Given the description of an element on the screen output the (x, y) to click on. 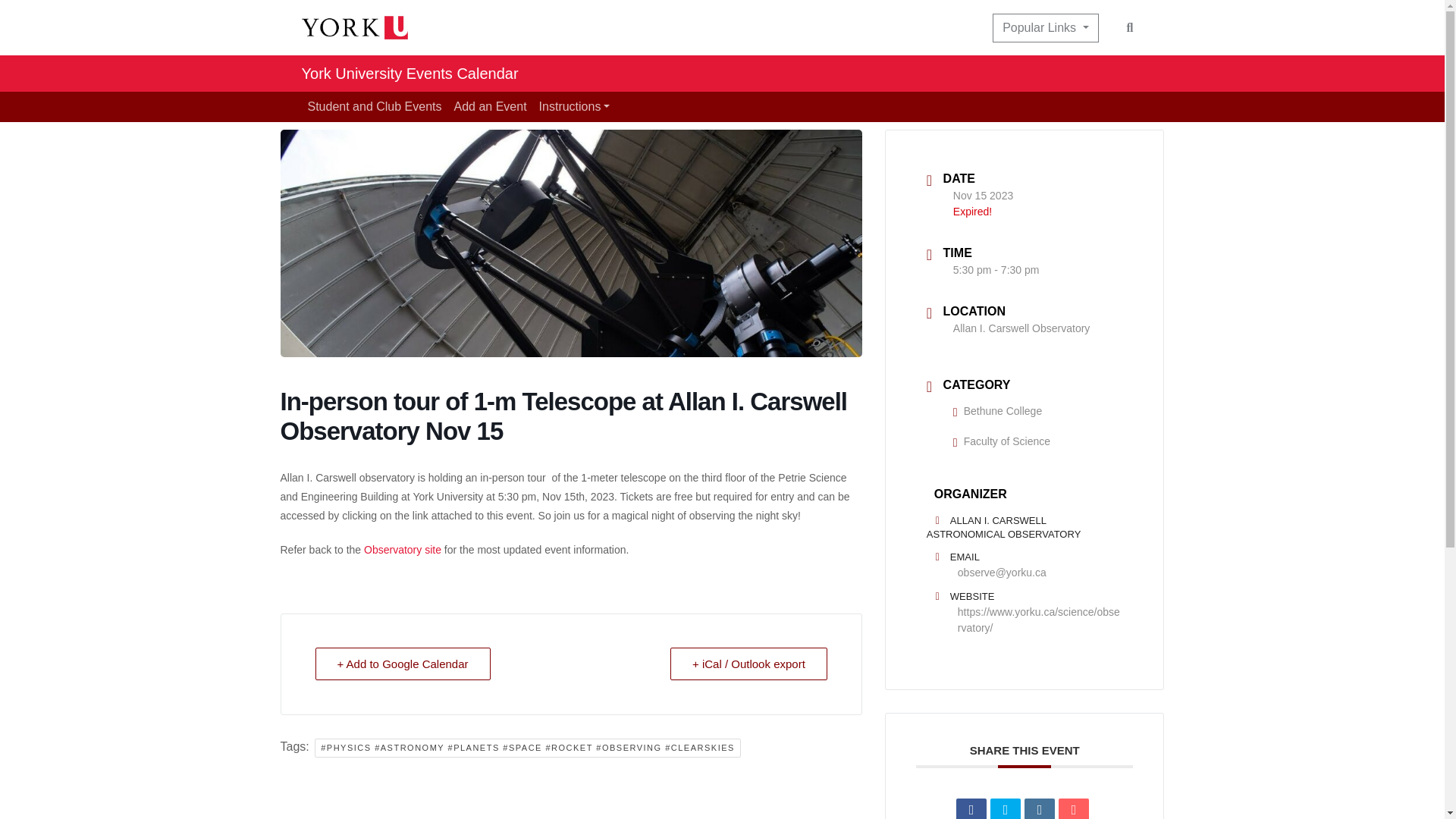
Student and Club Events (374, 106)
Email (1073, 808)
Popular Links (1044, 27)
Faculty of Science (1001, 440)
Search (1129, 27)
Add an Event (490, 106)
Tweet (1005, 808)
York University Events Calendar (409, 73)
Share on Facebook (971, 808)
Bethune College (997, 410)
